Given the description of an element on the screen output the (x, y) to click on. 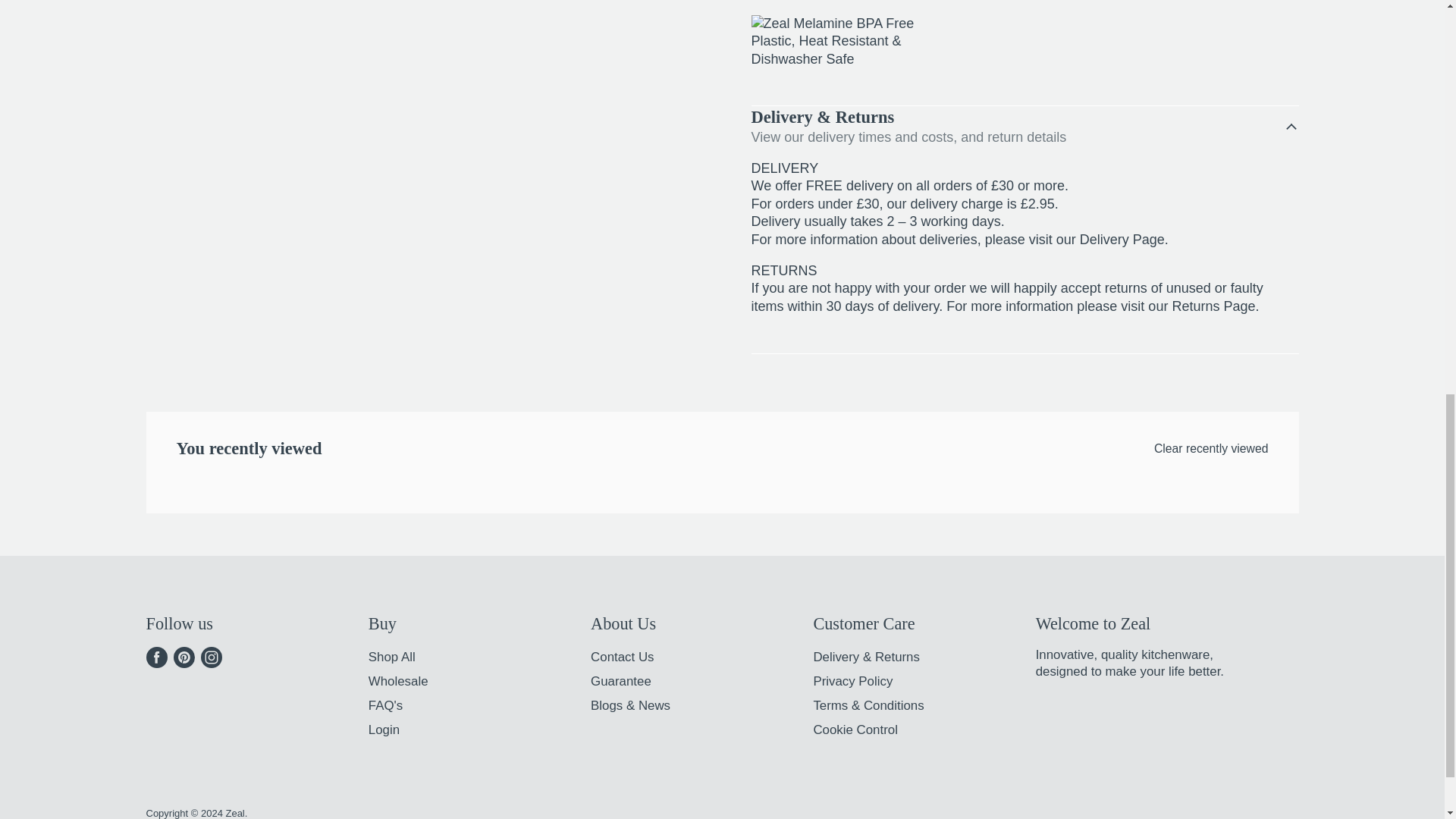
Facebook (156, 656)
Instagram (210, 656)
Pinterest (183, 656)
